Given the description of an element on the screen output the (x, y) to click on. 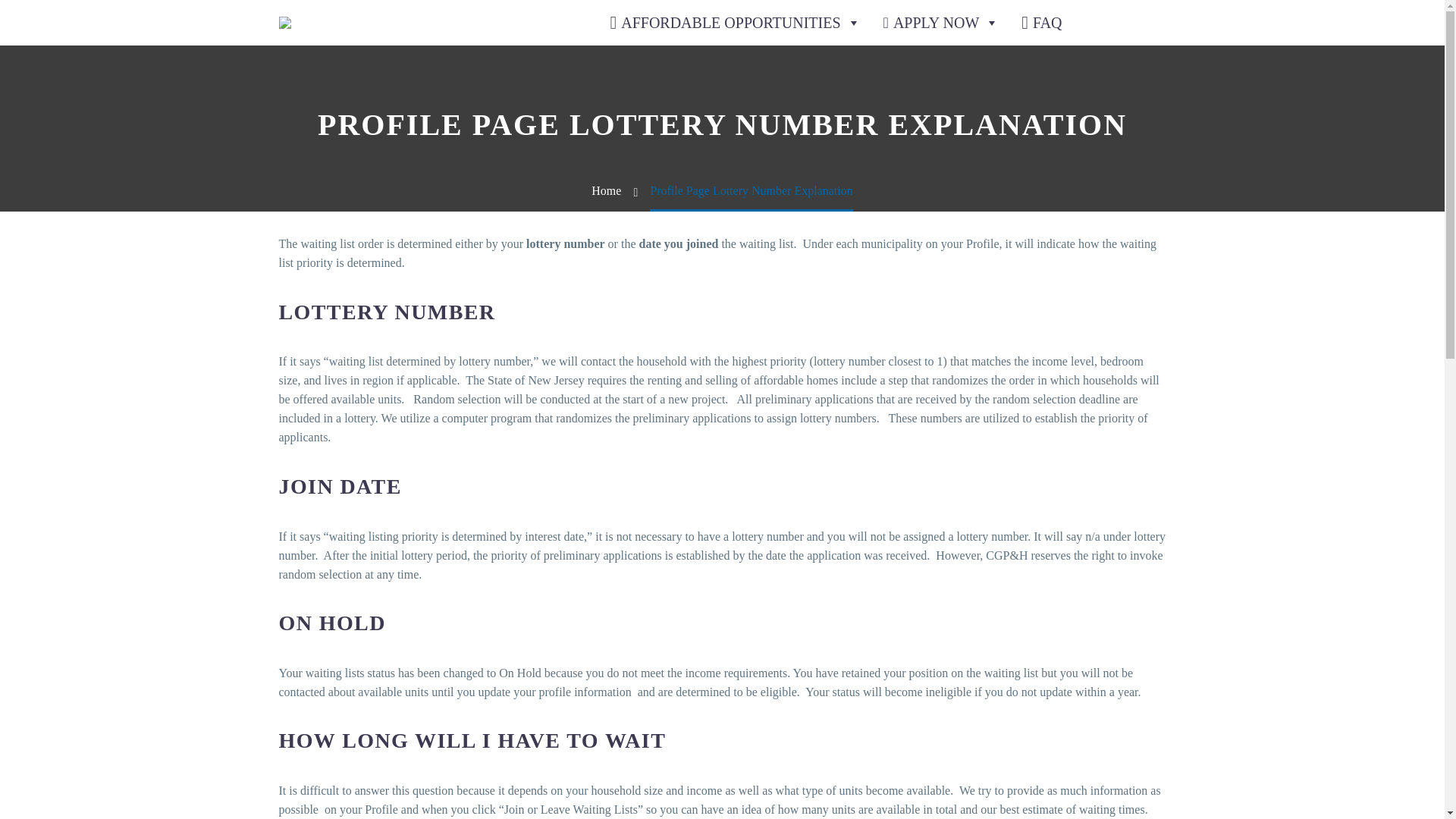
AFFORDABLE OPPORTUNITIES (734, 22)
FAQ (1041, 22)
Home (606, 190)
APPLY NOW (941, 22)
